Given the description of an element on the screen output the (x, y) to click on. 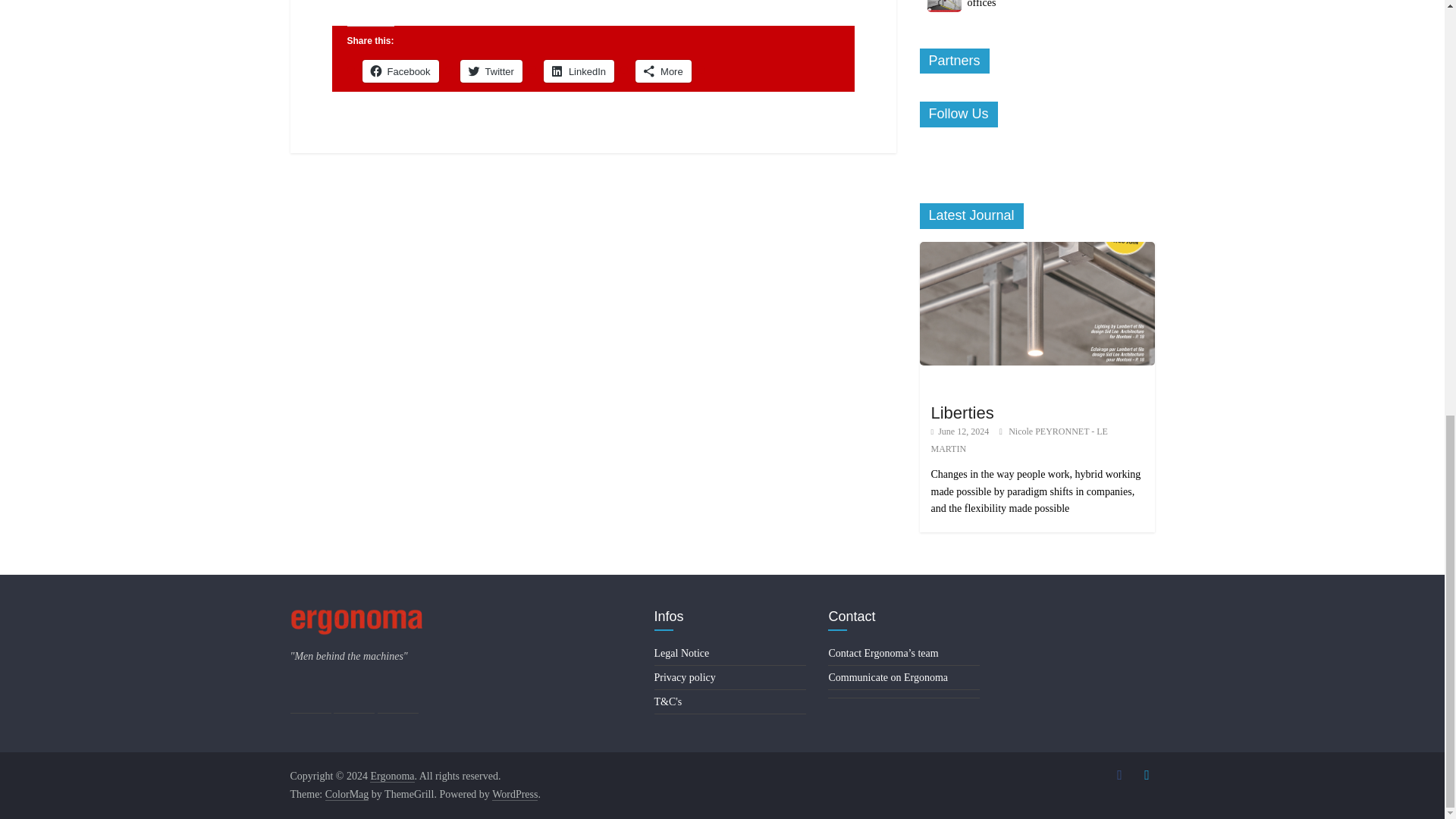
5:13 pm (960, 430)
Liberties (1036, 303)
Twitter (491, 70)
Click to share on Facebook (400, 70)
Liberties (1036, 249)
Facebook (400, 70)
More (662, 70)
Click to share on LinkedIn (578, 70)
Liberties (962, 412)
LinkedIn (578, 70)
Click to share on Twitter (491, 70)
Nicole PEYRONNET - LE MARTIN (1019, 439)
